Given the description of an element on the screen output the (x, y) to click on. 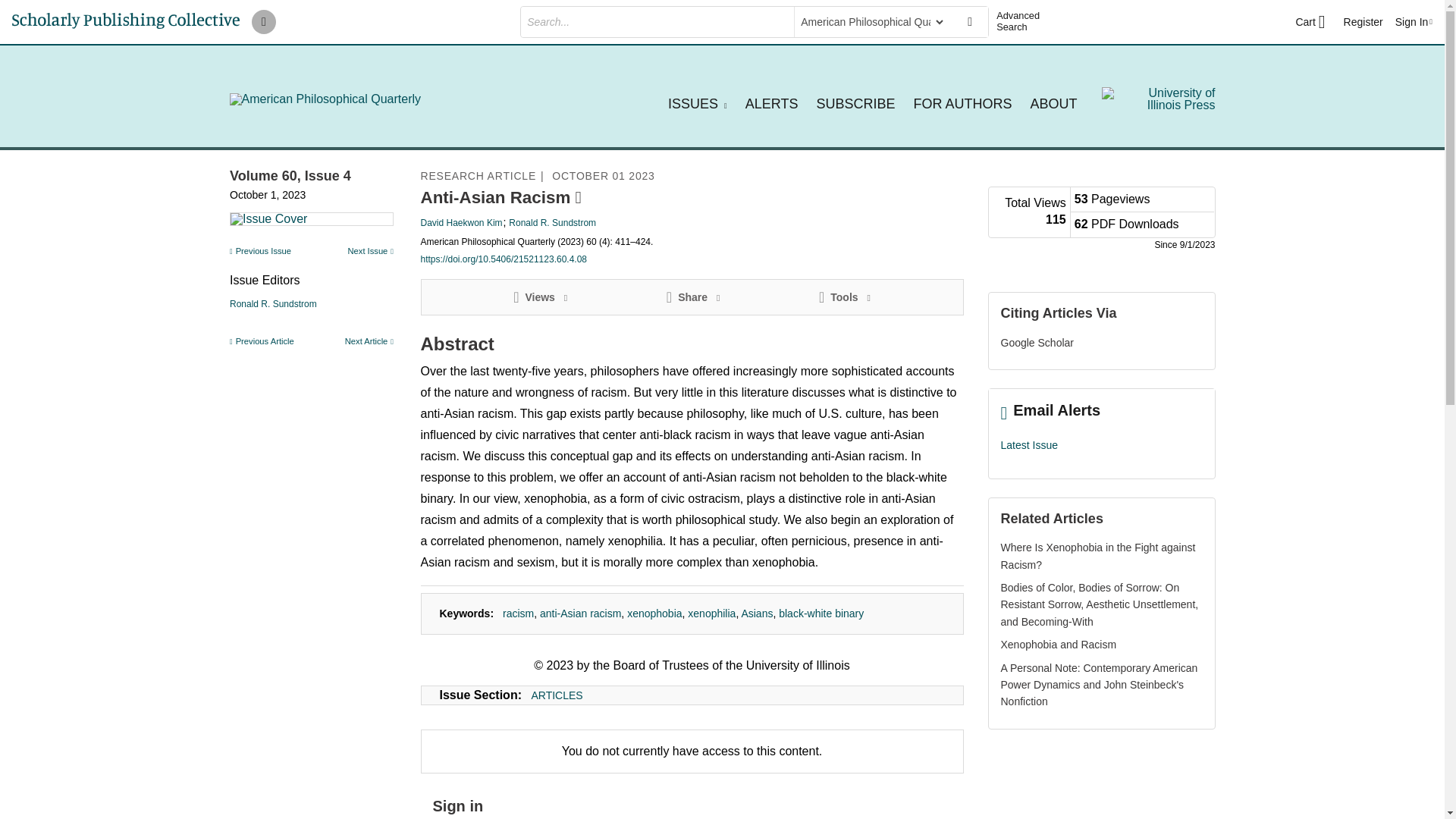
ISSUES (697, 103)
Register (1363, 21)
Advanced Search (1023, 21)
search input (655, 21)
Cart (1309, 22)
Sign In (1413, 21)
